Given the description of an element on the screen output the (x, y) to click on. 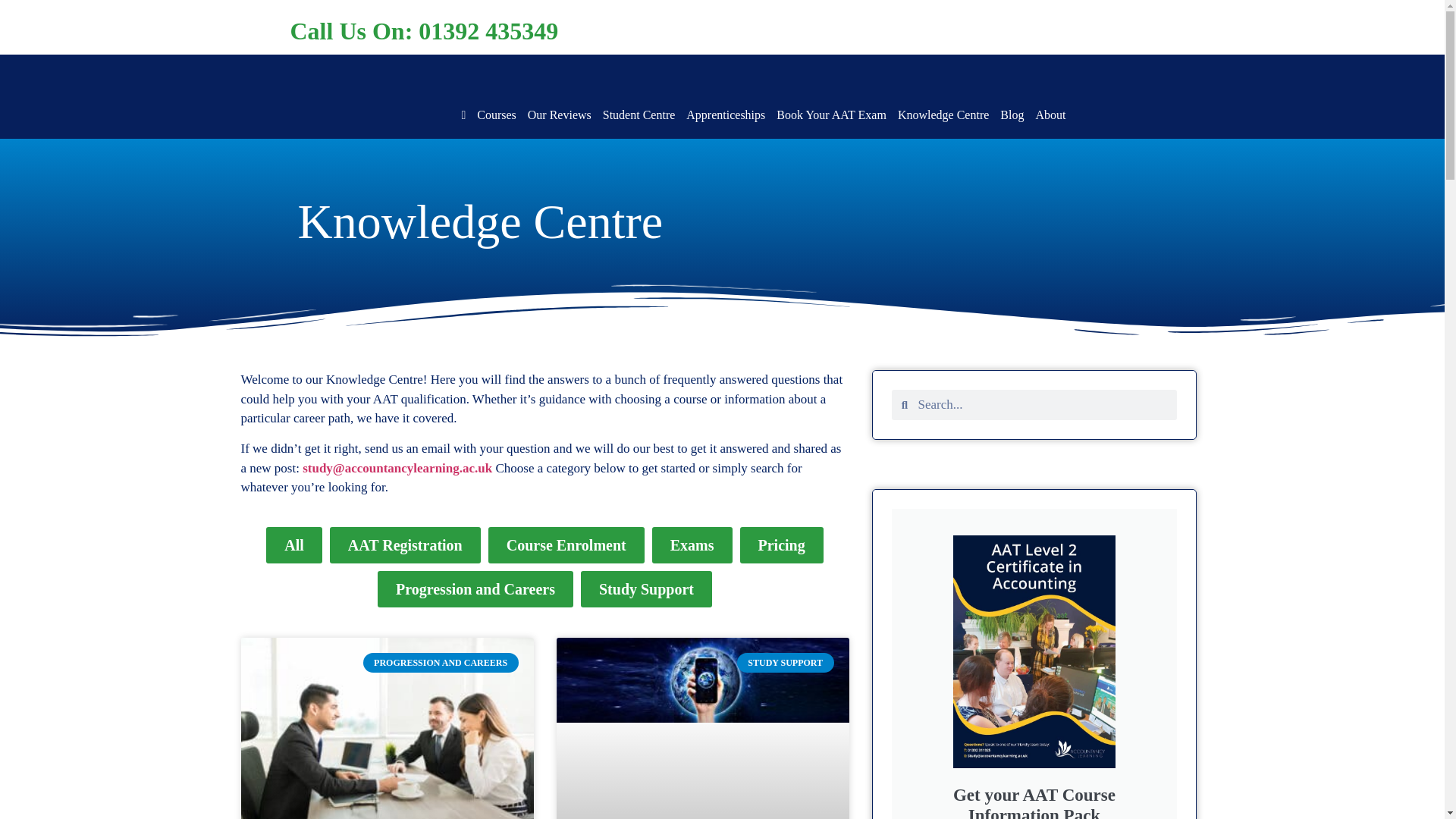
About (1050, 115)
Knowledge Centre (943, 115)
Courses (496, 115)
Call Us On: 01392 435349 (423, 31)
Apprenticeships (725, 115)
Student Centre (638, 115)
Book Your AAT Exam (831, 115)
Our Reviews (559, 115)
